Given the description of an element on the screen output the (x, y) to click on. 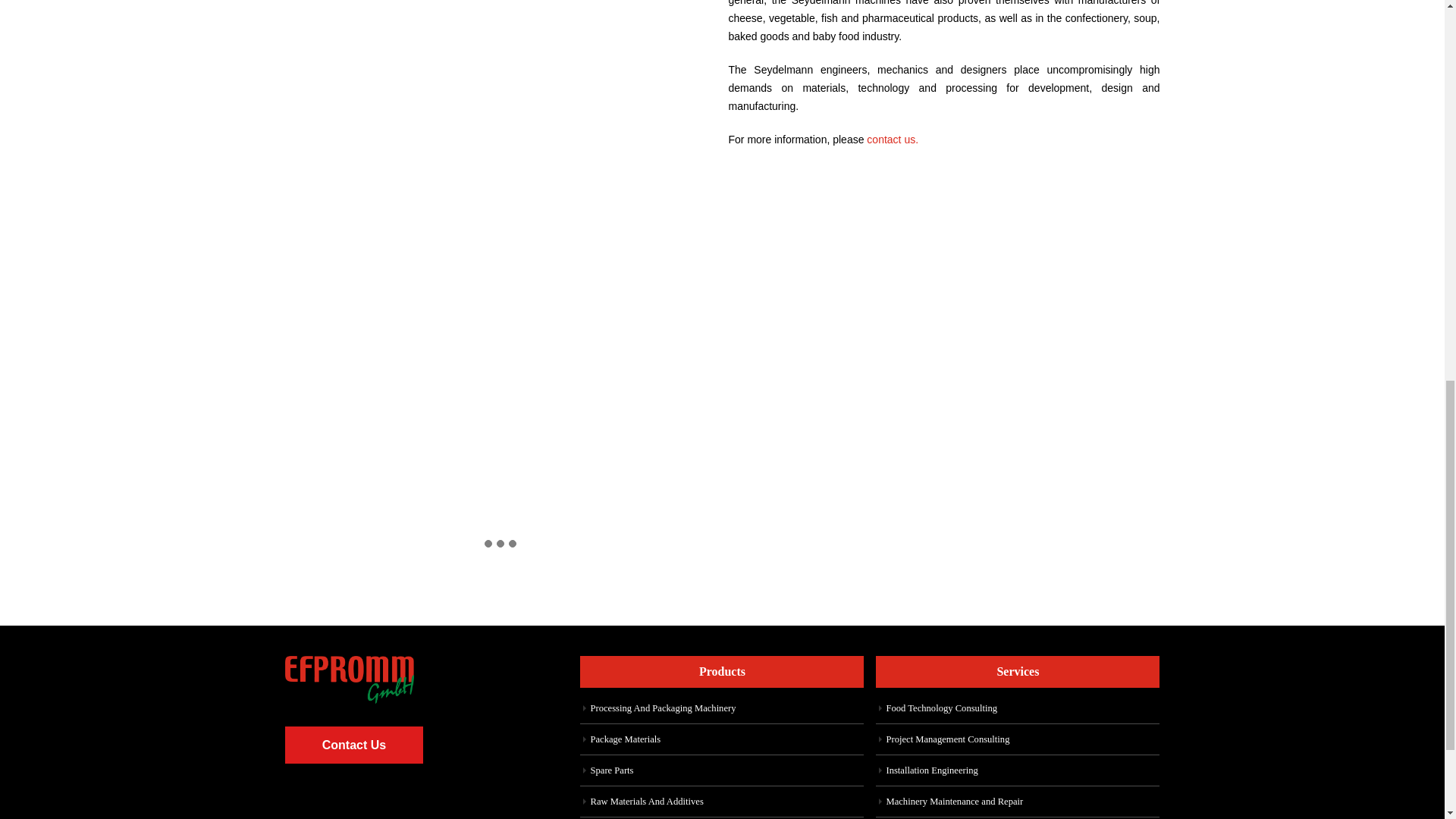
Installation Engineering (930, 769)
contact us. (892, 139)
Package Materials (625, 738)
Project Management Consulting (947, 738)
Food Technology Consulting (941, 707)
Contact Us (354, 744)
Processing And Packaging Machinery (662, 707)
Spare Parts (611, 769)
Raw Materials And Additives (646, 801)
